Given the description of an element on the screen output the (x, y) to click on. 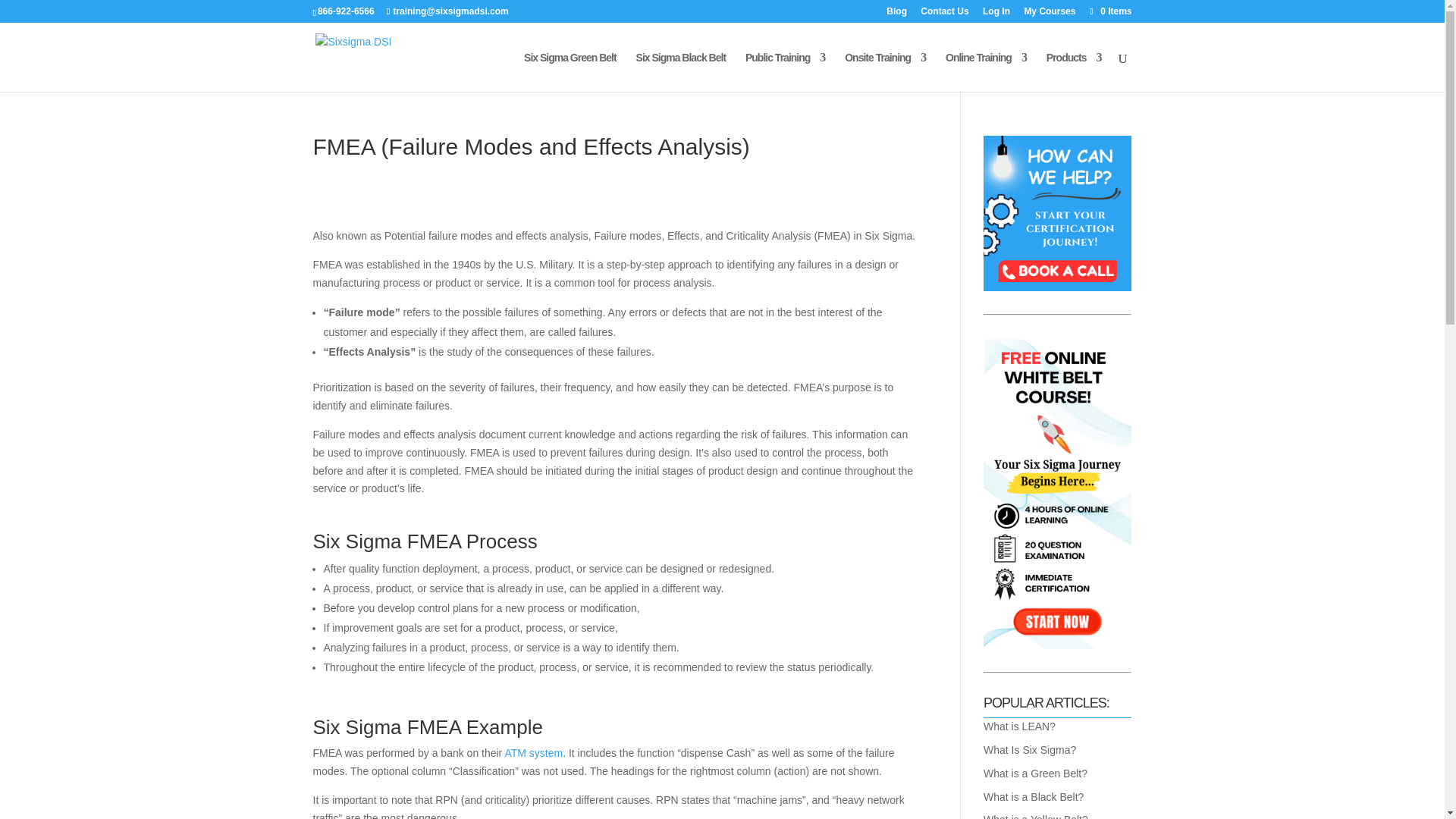
My Courses (1049, 14)
What is a Lean Six Sigma Yellow Belt? (1035, 816)
Log In (996, 14)
Blog (896, 14)
What is Lean Six Sigma? Why Get a Six Sigma Certification? (1029, 749)
Six Sigma Green Belt (569, 71)
Public Training (785, 71)
0 Items (1108, 10)
What is LEAN? Why Get a LEAN Certification? (1019, 726)
Six Sigma Black Belt (681, 71)
Contact Us (944, 14)
Onsite Training (885, 71)
Online Training (985, 71)
